Given the description of an element on the screen output the (x, y) to click on. 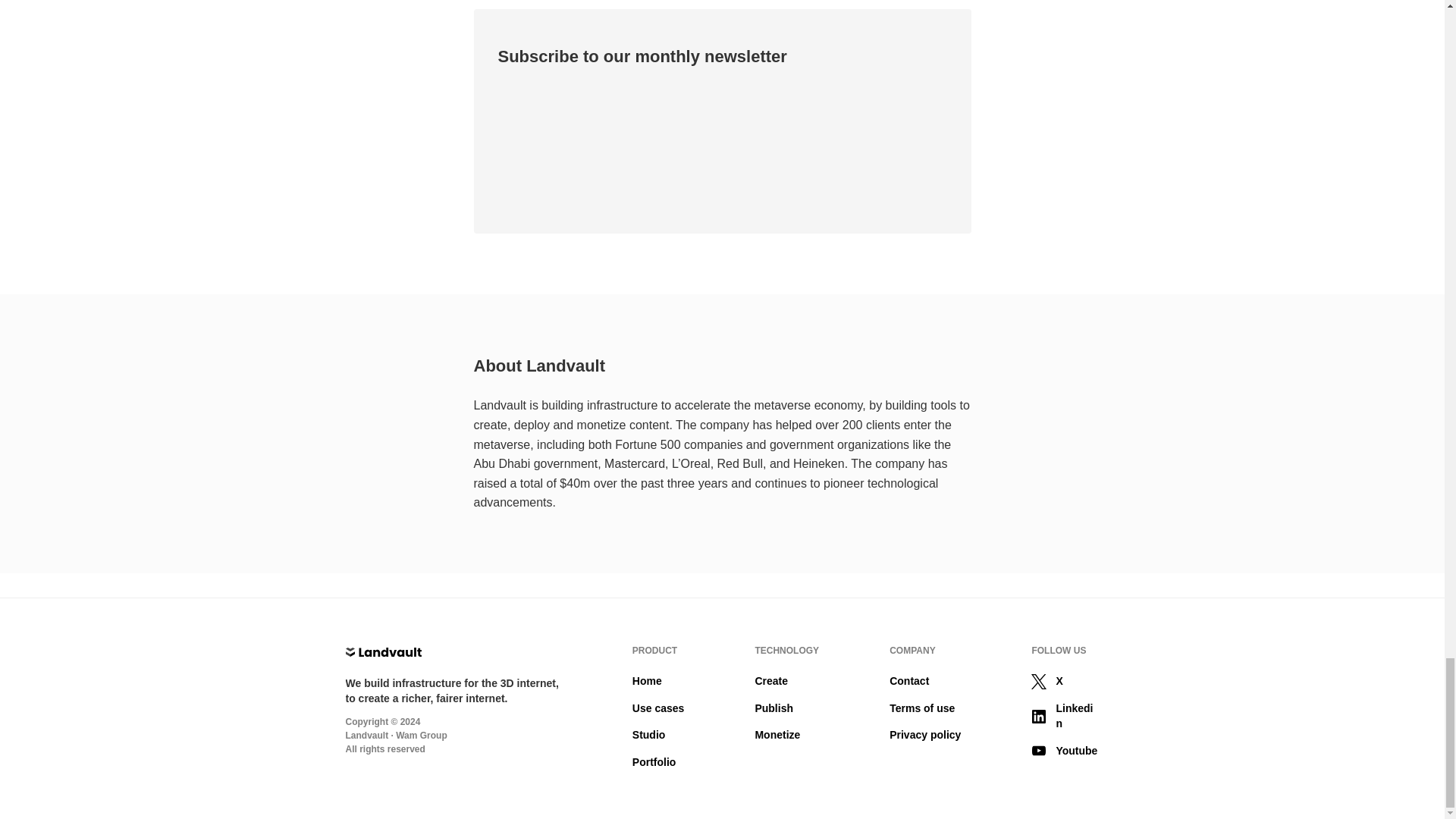
Create (770, 680)
Use cases (657, 707)
Contact (908, 680)
Home (646, 680)
Portfolio (654, 761)
Linkedin (1064, 716)
Studio (648, 734)
Publish (773, 707)
Youtube (1064, 750)
Terms of use (922, 707)
